Given the description of an element on the screen output the (x, y) to click on. 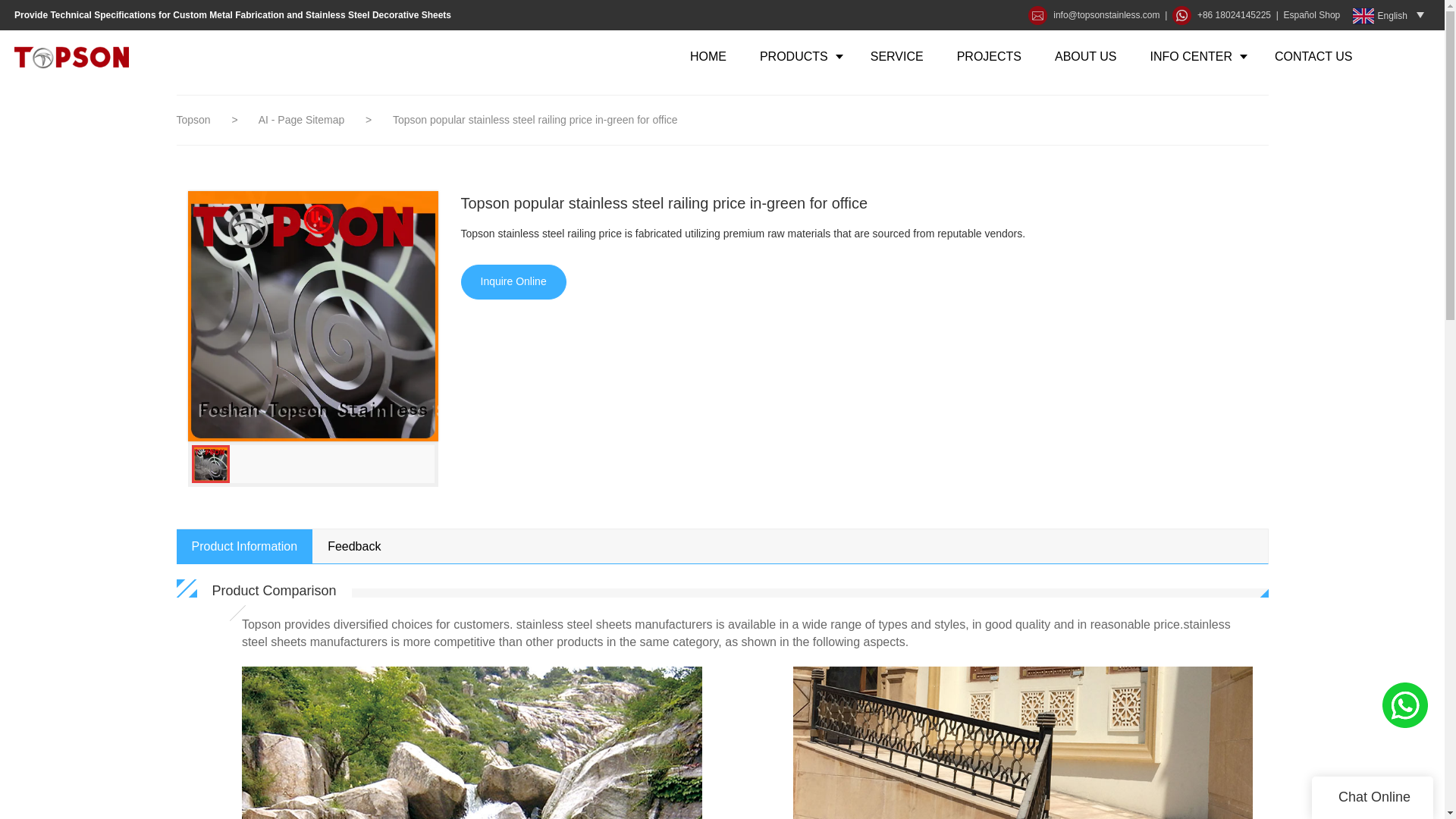
Topson (192, 119)
ABOUT US (1086, 56)
Inquire Online (513, 281)
HOME (707, 56)
PROJECTS (989, 56)
SERVICE (896, 56)
PRODUCTS (797, 56)
AI - Page Sitemap (303, 119)
CONTACT US (1313, 56)
INFO CENTER (1195, 56)
